Given the description of an element on the screen output the (x, y) to click on. 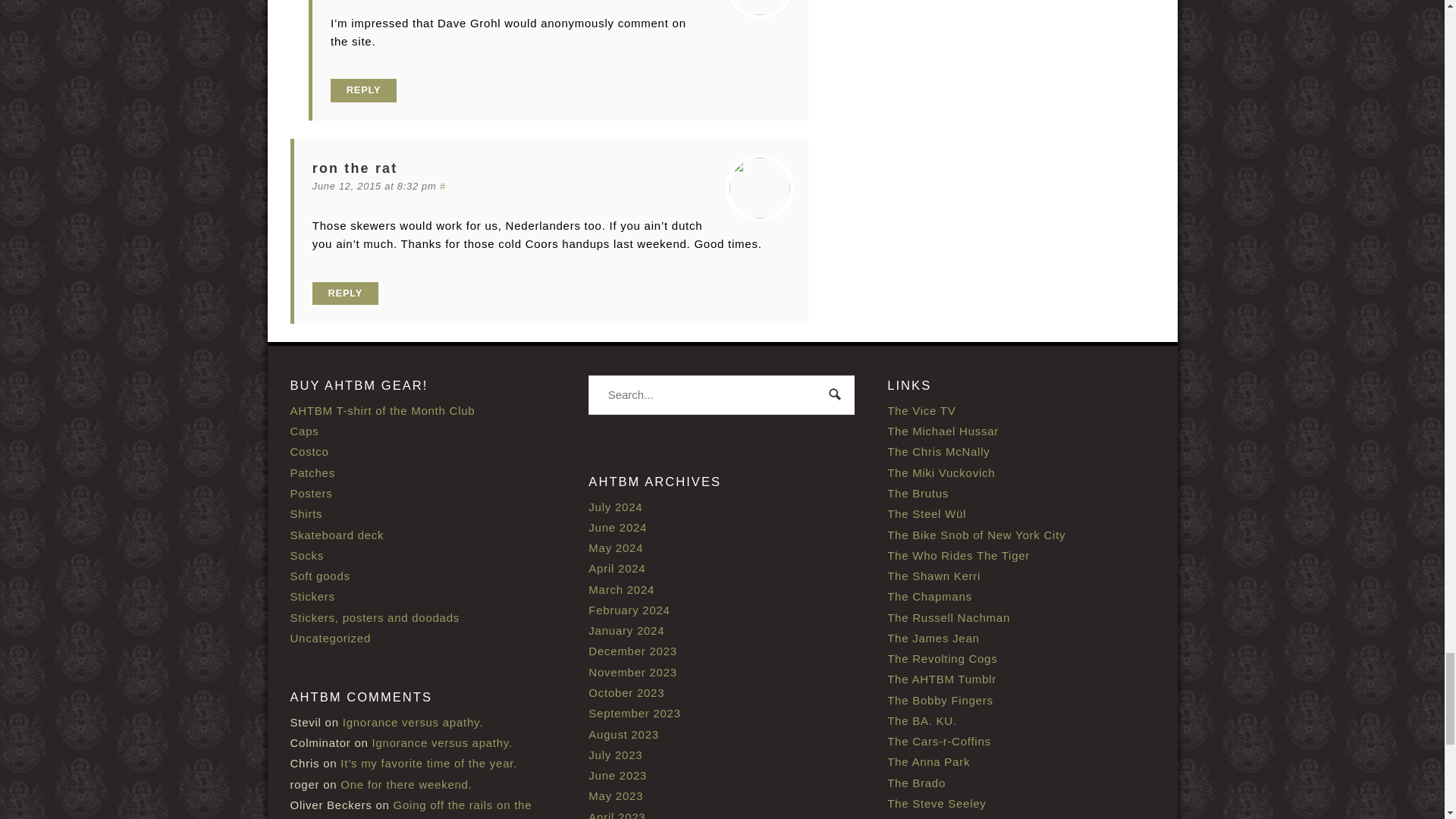
Search (836, 395)
Search (836, 395)
